Given the description of an element on the screen output the (x, y) to click on. 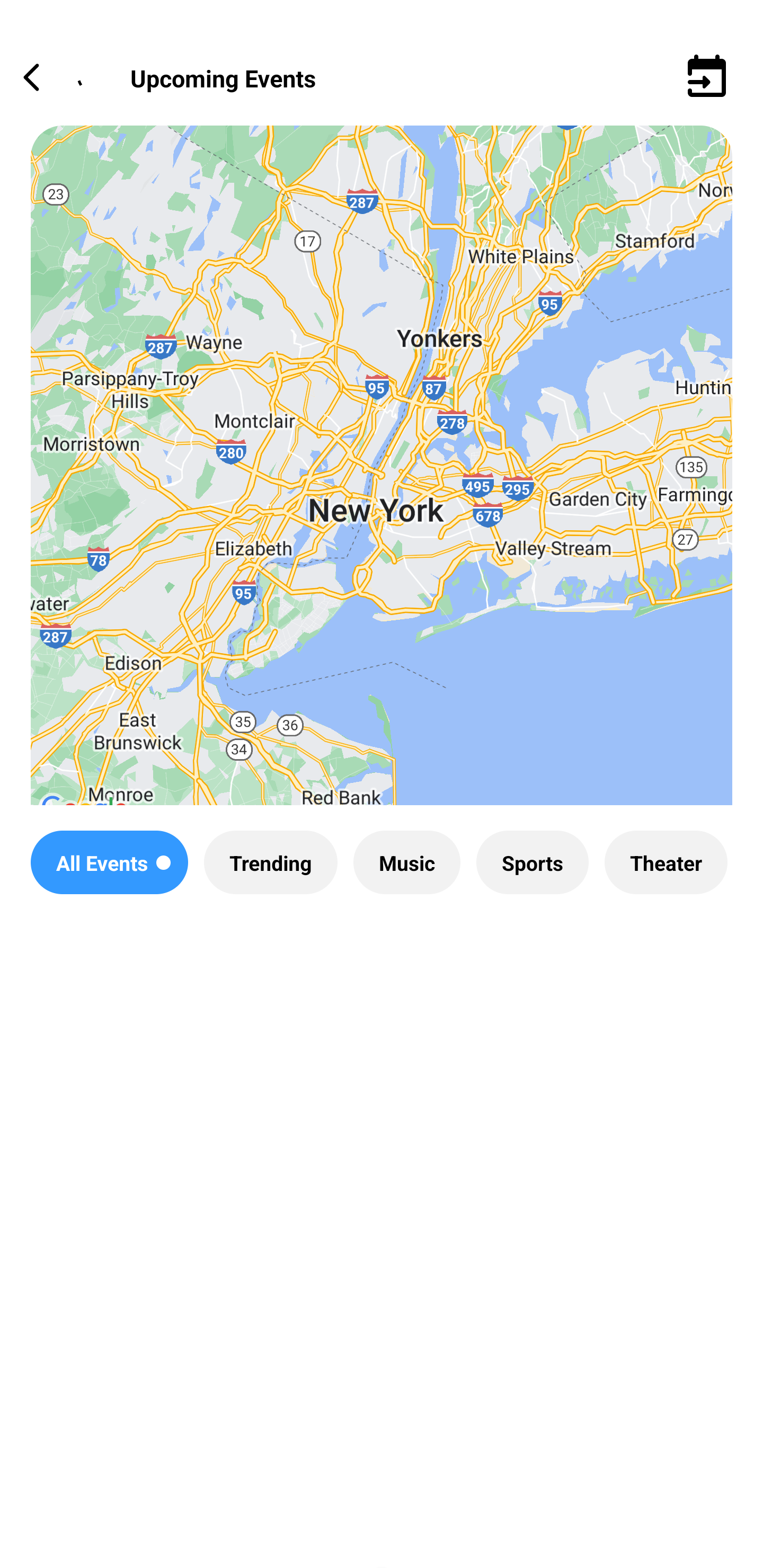
Google Map (381, 480)
All Events (109, 862)
Trending (270, 862)
Music (406, 862)
Sports (532, 862)
Theater (665, 862)
